Given the description of an element on the screen output the (x, y) to click on. 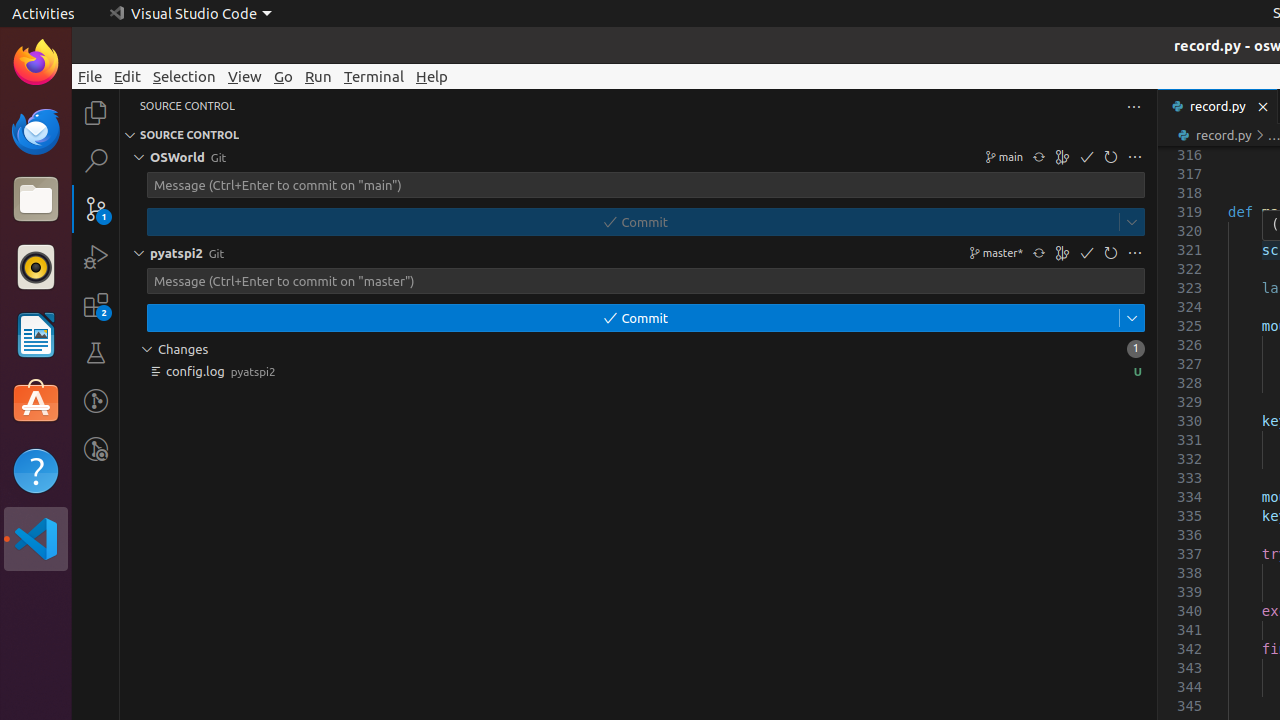
config.log, Untracked, pyatspi2 Element type: tree-item (638, 371)
Extensions (Ctrl+Shift+X) - 2 require update Element type: page-tab (96, 305)
main, Checkout Branch/Tag... Element type: push-button (1002, 157)
OSWorld Git Element type: tree-item (638, 157)
